Given the description of an element on the screen output the (x, y) to click on. 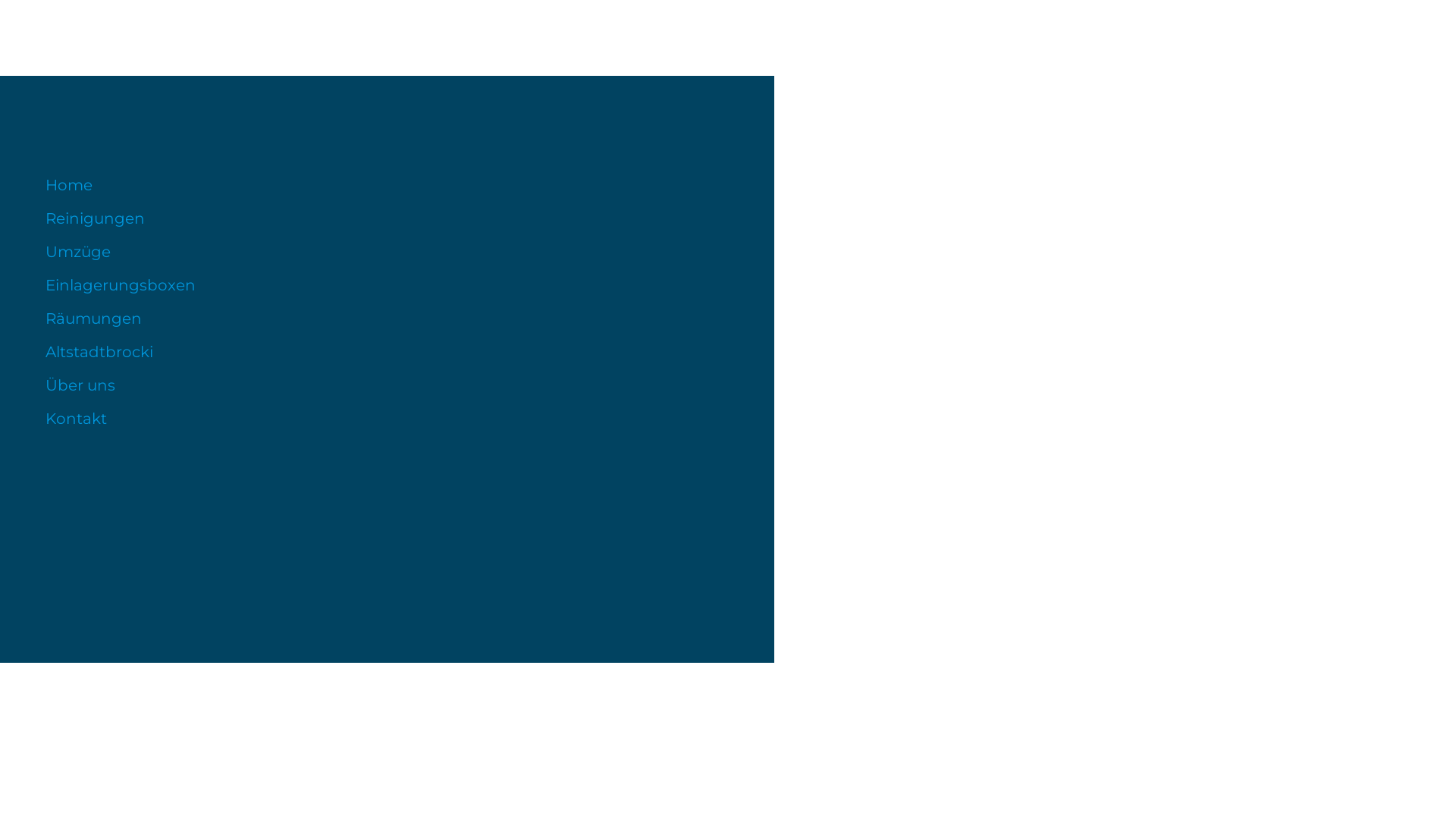
Home Element type: text (386, 184)
Reinigungen Element type: text (386, 218)
Einlagerungsboxen Element type: text (386, 284)
Altstadtbrocki Element type: text (386, 351)
Kontakt Element type: text (386, 418)
